Given the description of an element on the screen output the (x, y) to click on. 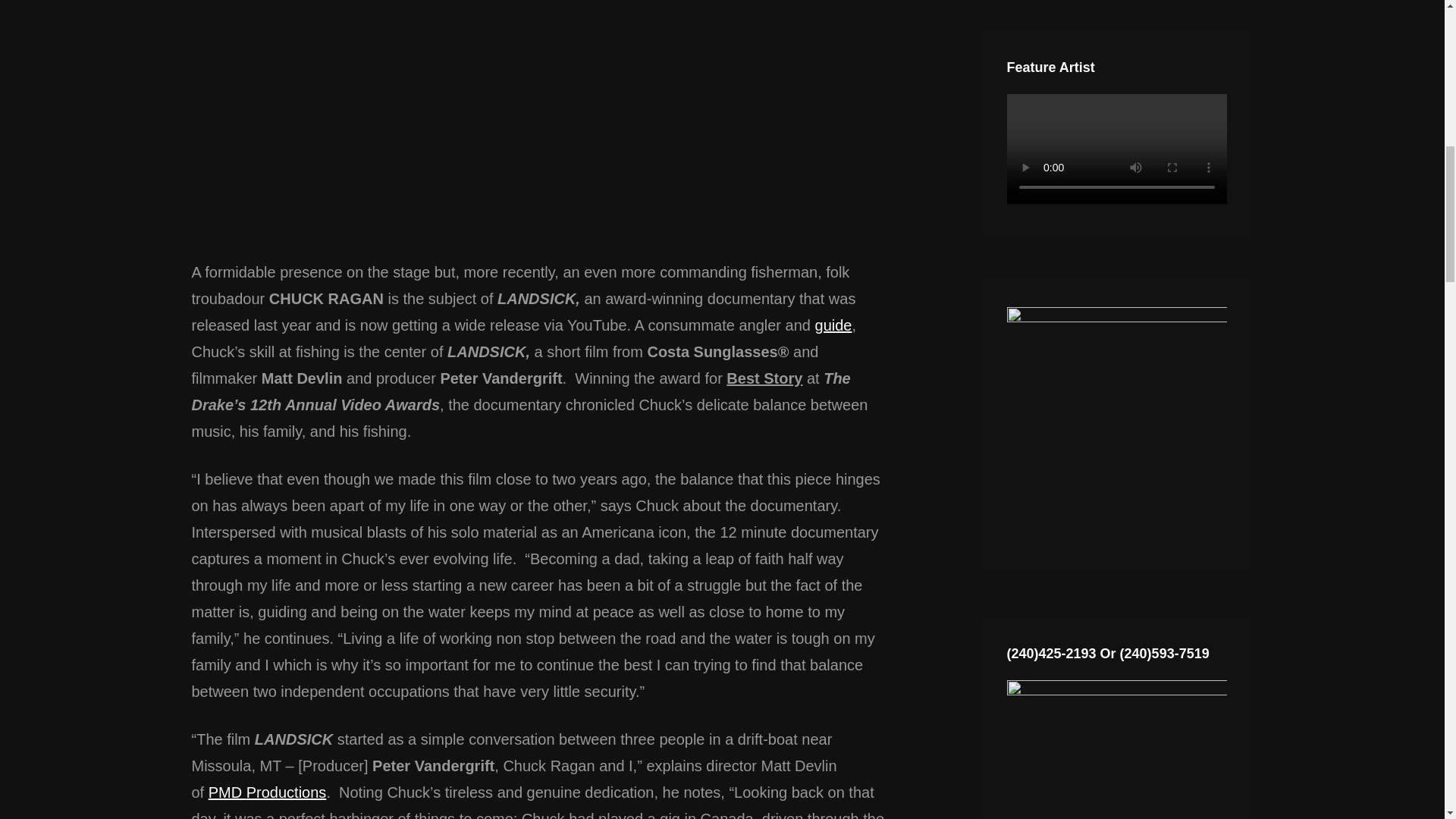
PMD  (227, 791)
Productions (286, 791)
guide (833, 324)
